Given the description of an element on the screen output the (x, y) to click on. 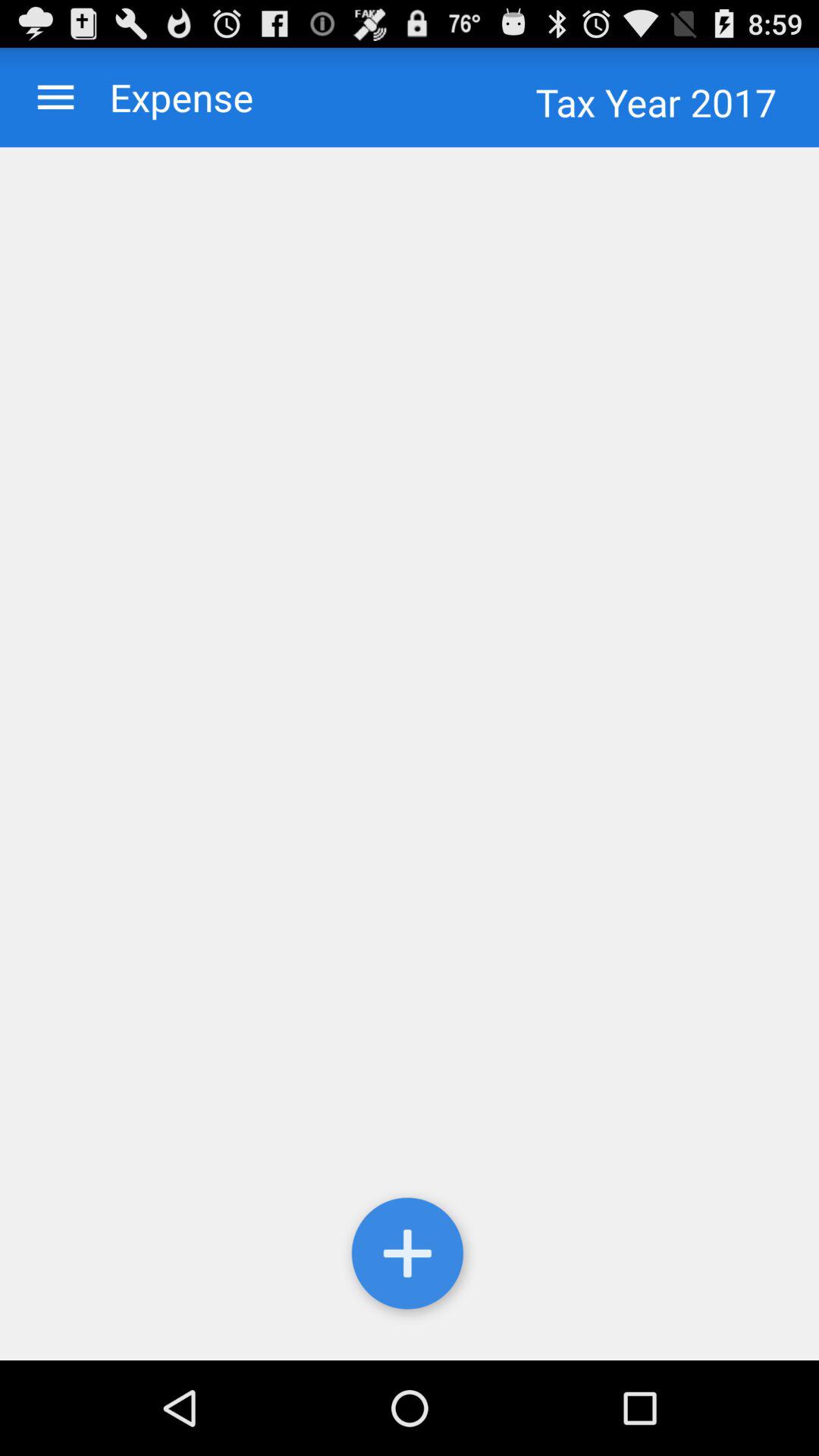
add more item (409, 1256)
